Given the description of an element on the screen output the (x, y) to click on. 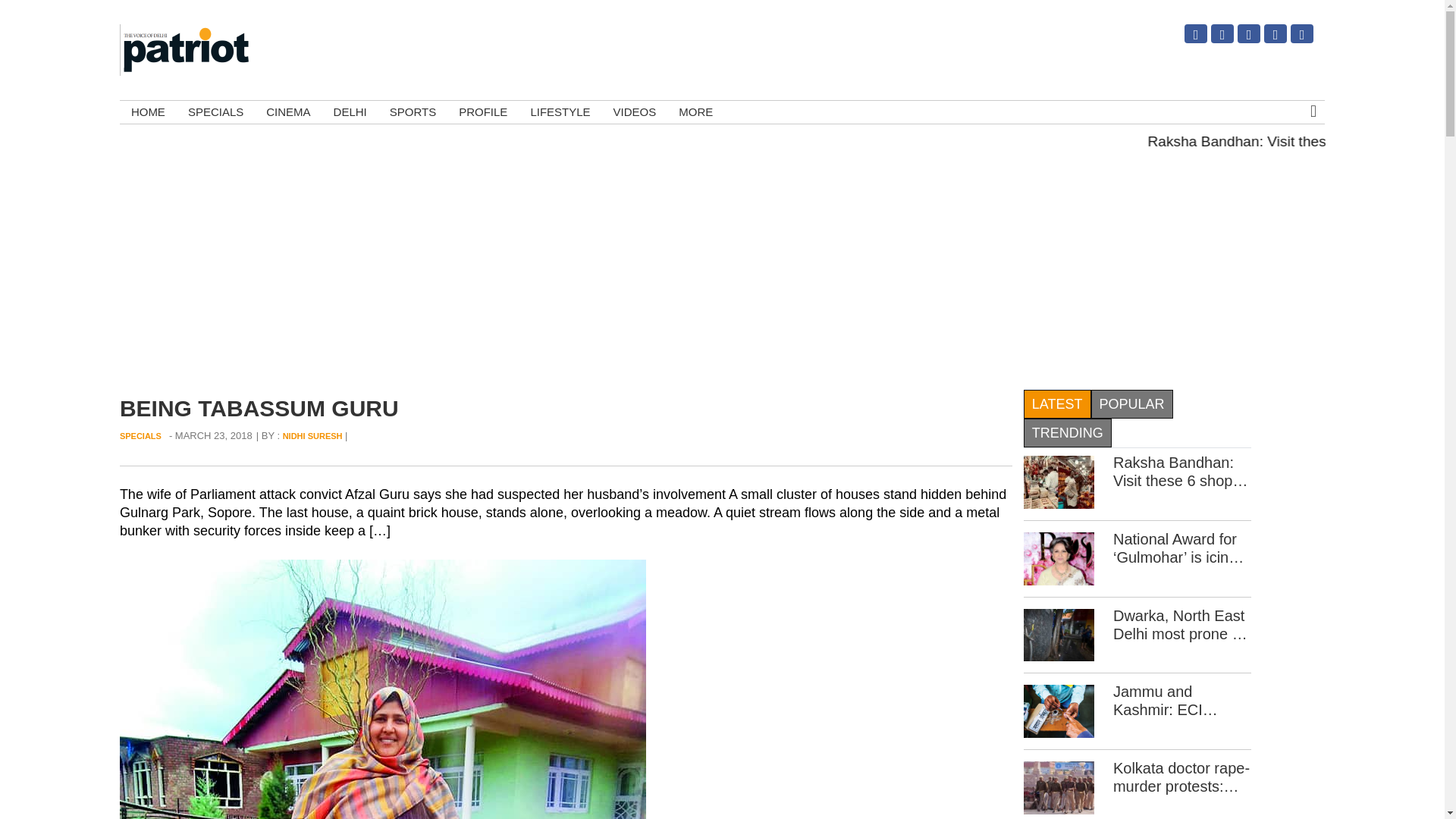
Search (1293, 184)
Linkedin (1266, 39)
NIDHI SURESH (312, 435)
LIFESTYLE (559, 111)
Instagram (1186, 39)
Twitter (1213, 39)
SPECIALS (140, 435)
DELHI (349, 111)
Youtube (1292, 39)
